Given the description of an element on the screen output the (x, y) to click on. 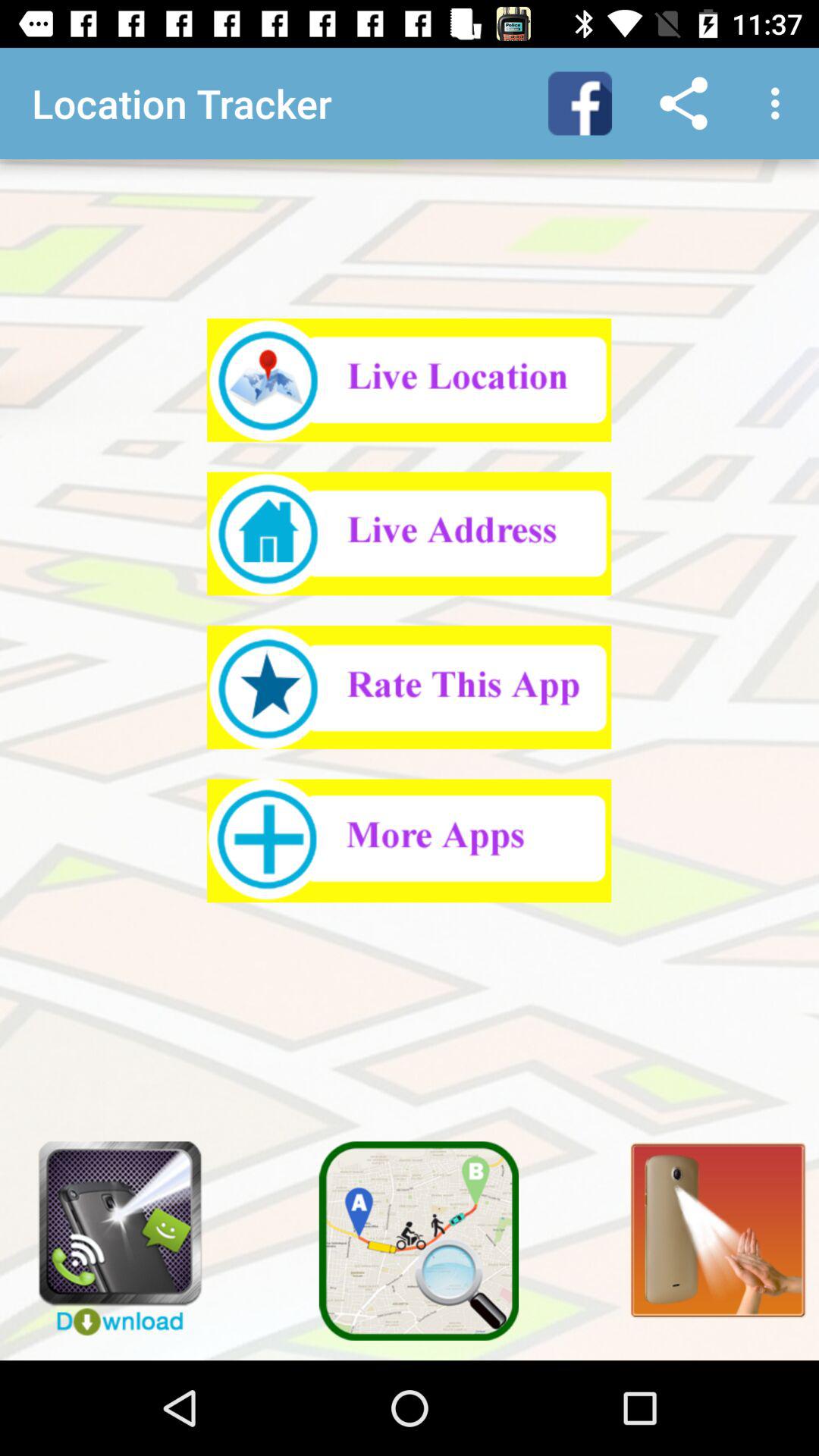
download option (109, 1230)
